Given the description of an element on the screen output the (x, y) to click on. 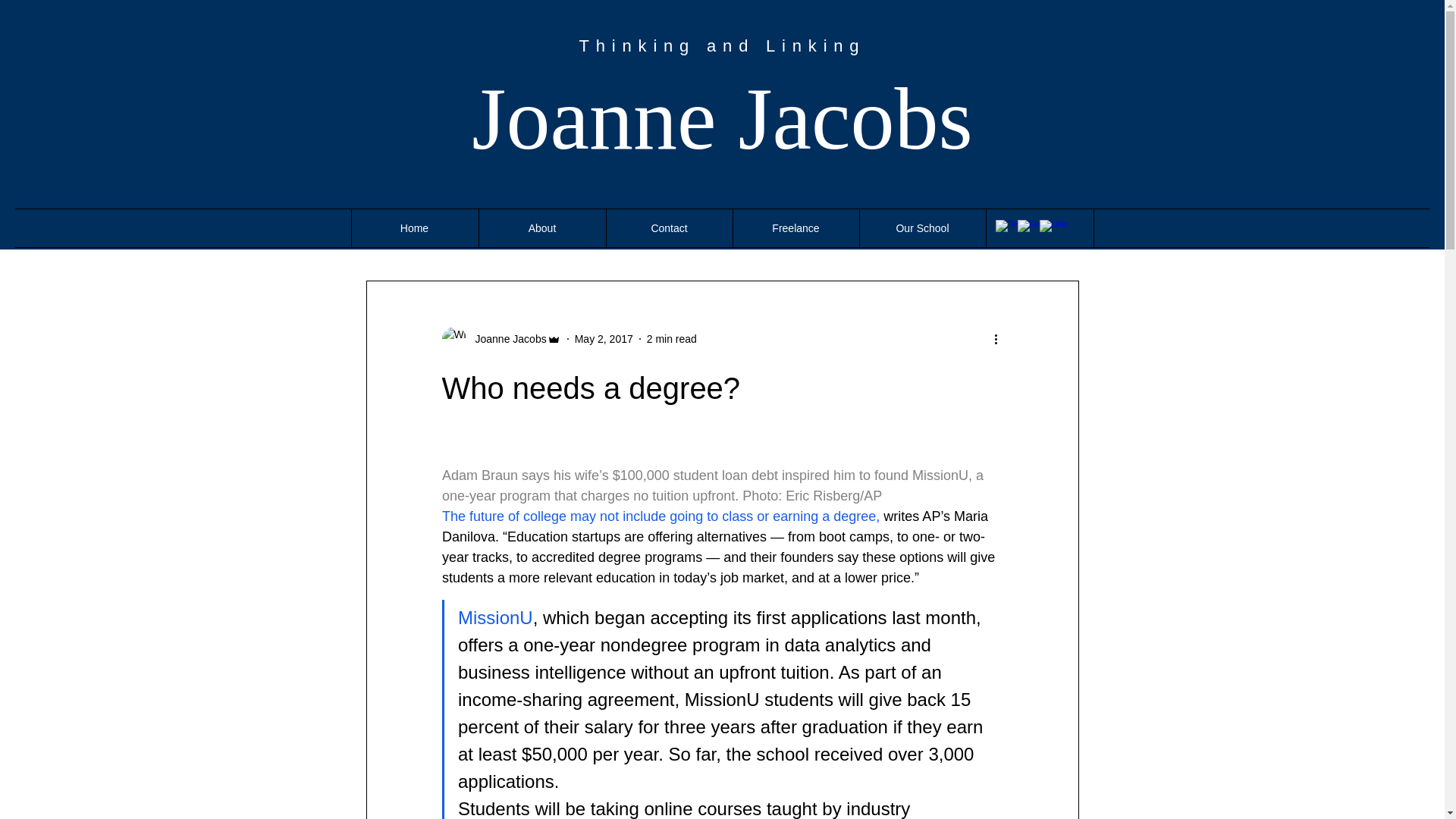
Joanne Jacobs (721, 118)
May 2, 2017 (604, 337)
About (541, 228)
Contact (668, 228)
Freelance (795, 228)
Our School (922, 228)
2 min read (671, 337)
Joanne Jacobs (505, 338)
MissionU (495, 617)
